Given the description of an element on the screen output the (x, y) to click on. 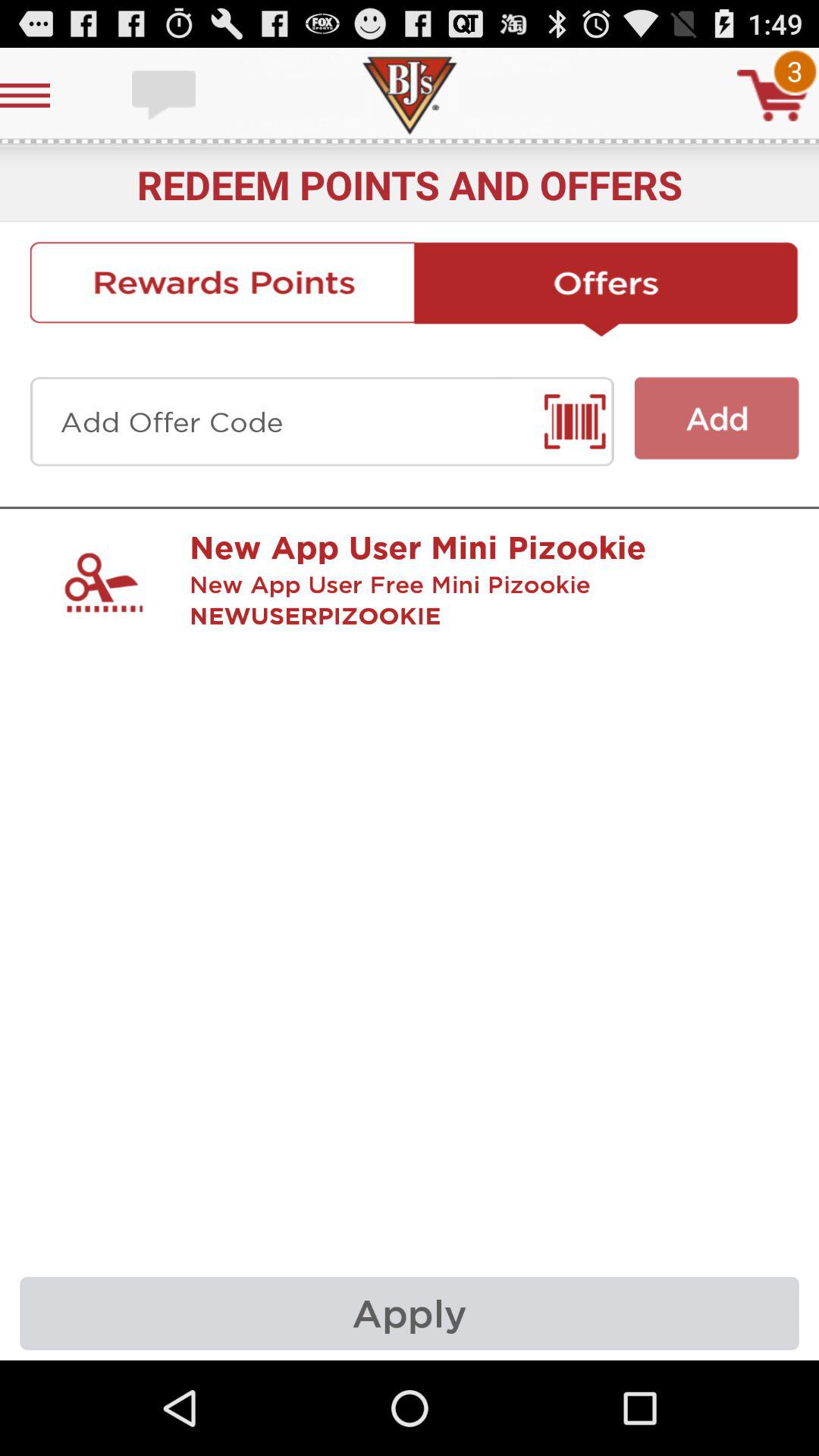
click add to cart option (772, 95)
